Given the description of an element on the screen output the (x, y) to click on. 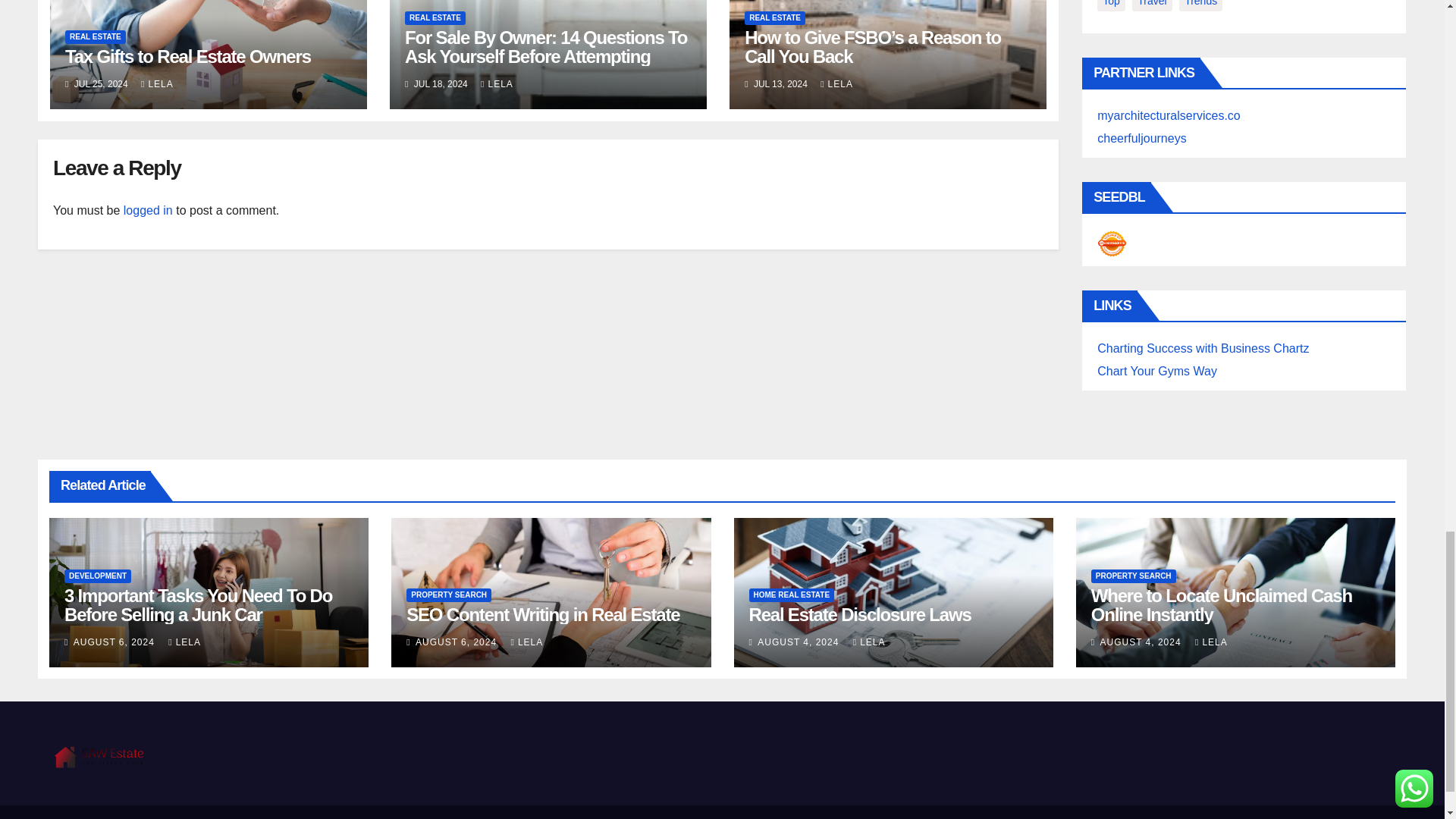
Tax Gifts to Real Estate Owners (188, 55)
REAL ESTATE (95, 37)
Permalink to: Tax Gifts to Real Estate Owners (188, 55)
